Given the description of an element on the screen output the (x, y) to click on. 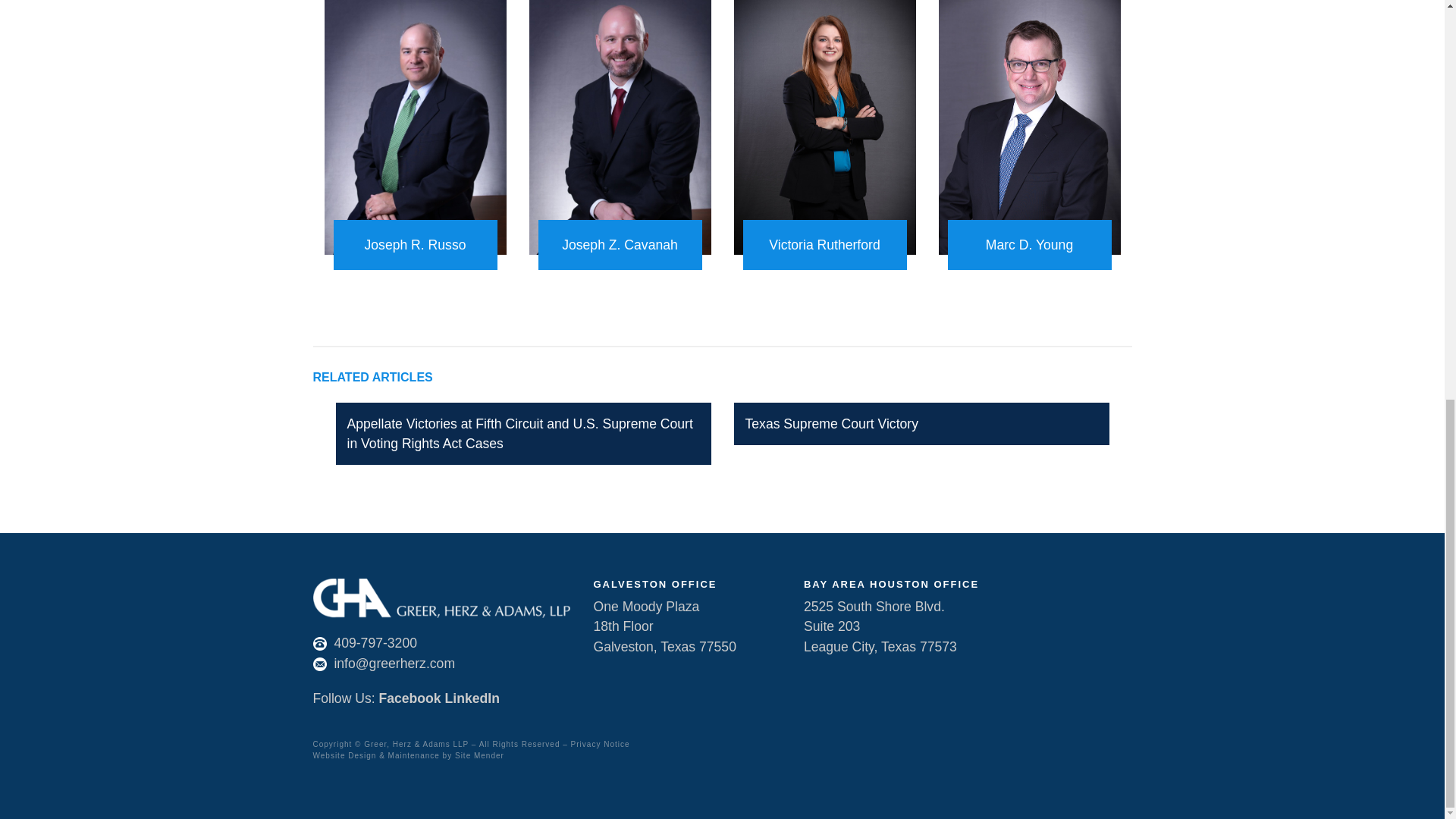
Texas Supreme Court Victory (831, 422)
LinkedIn (472, 698)
Privacy Notice (600, 744)
Facebook (409, 698)
409-797-3200 (374, 642)
Joseph R. Russo (415, 245)
Marc D. Young (1029, 245)
Joseph Z. Cavanah (619, 245)
Site Mender (478, 755)
Victoria Rutherford (824, 245)
